Given the description of an element on the screen output the (x, y) to click on. 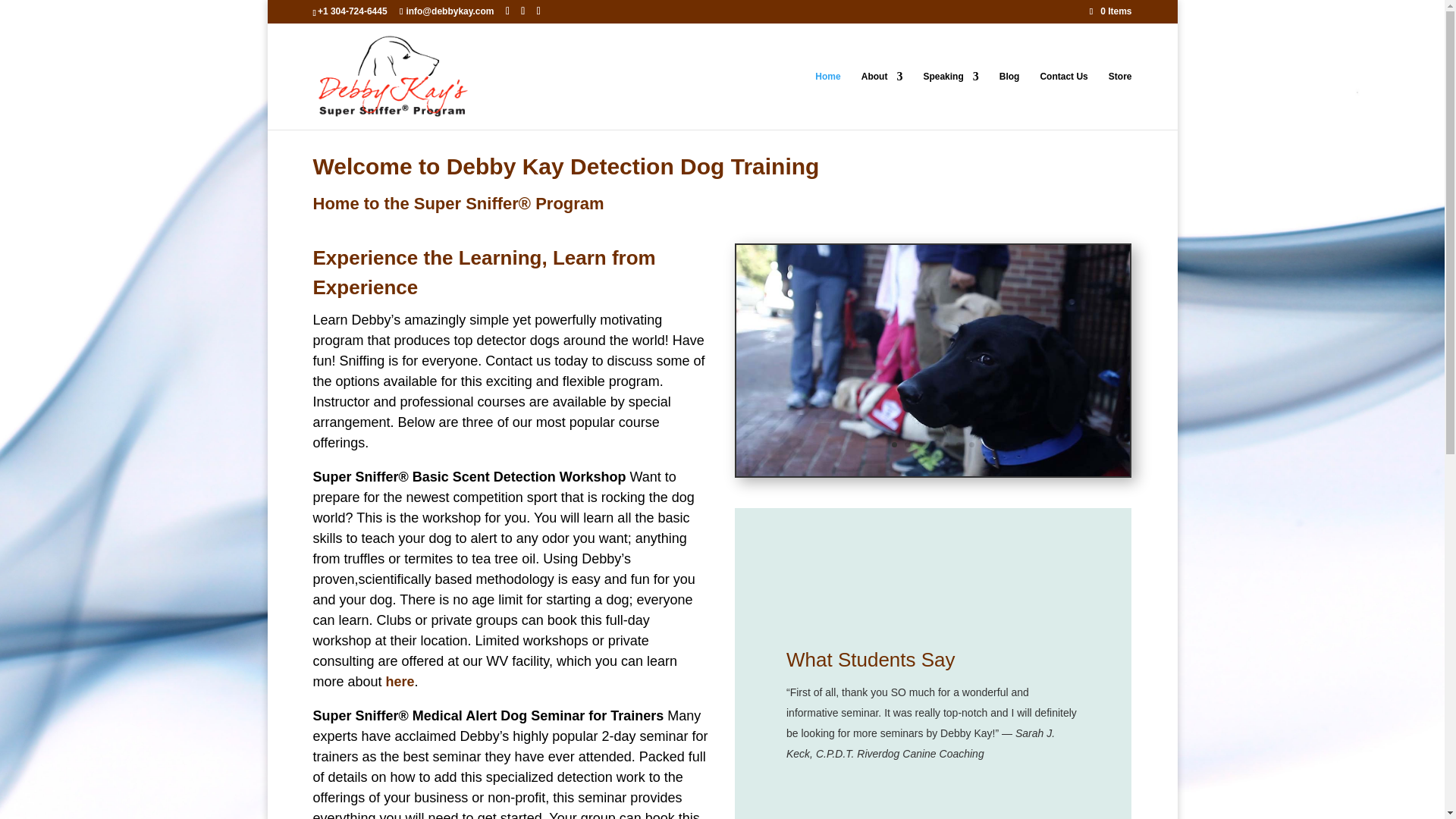
0 Items (1110, 10)
Speaking (950, 100)
here (399, 681)
